Given the description of an element on the screen output the (x, y) to click on. 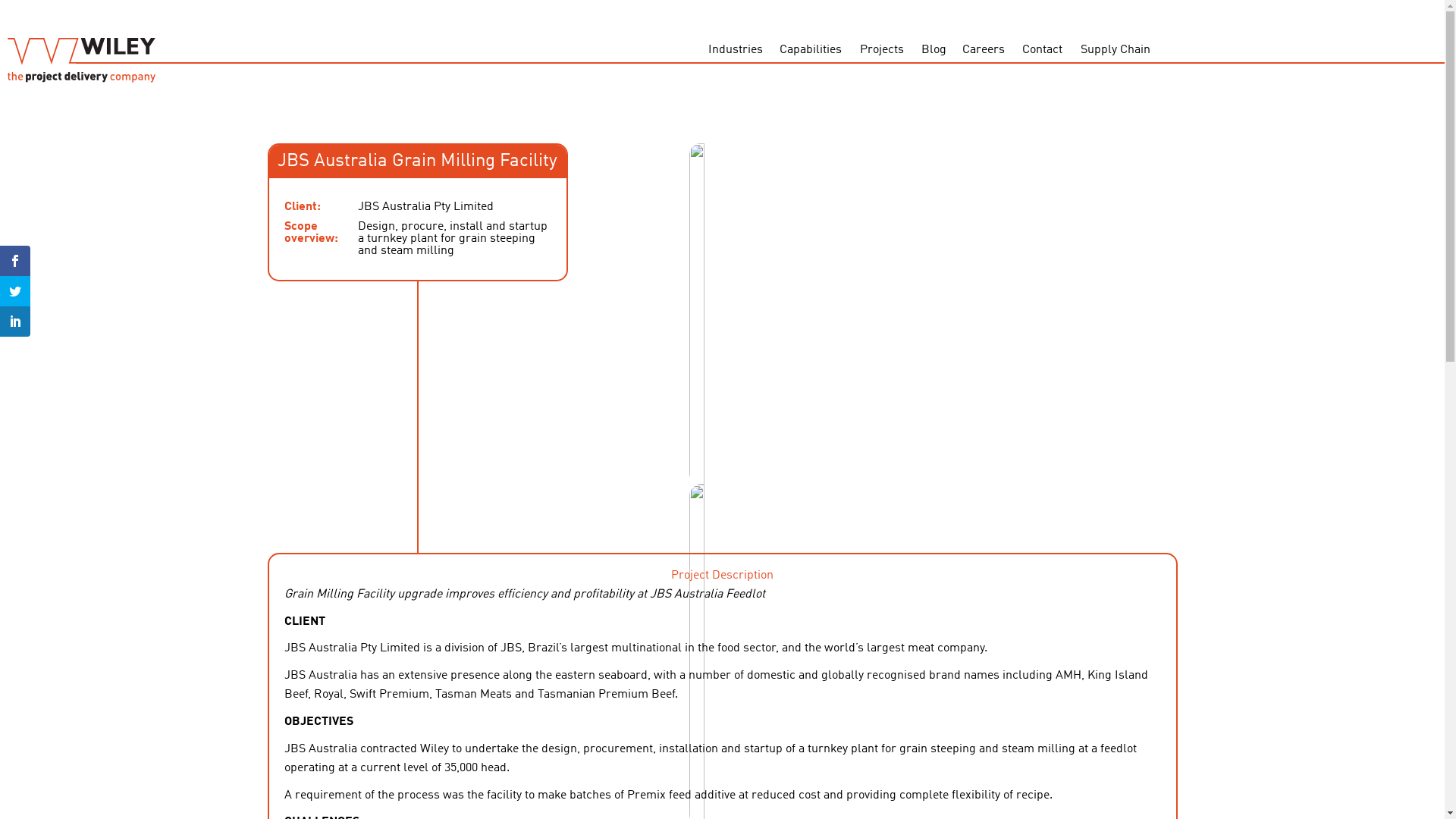
Projects Element type: text (882, 50)
Careers Element type: text (983, 50)
Supply Chain Element type: text (1115, 50)
Capabilities Element type: text (811, 50)
Contact Element type: text (1043, 50)
Industries Element type: text (735, 50)
Blog Element type: text (933, 50)
